Given the description of an element on the screen output the (x, y) to click on. 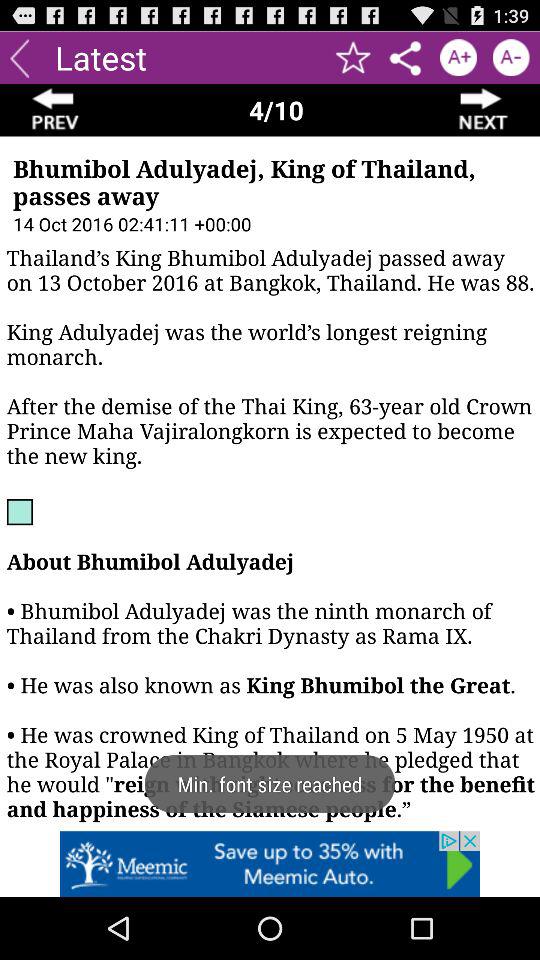
font size adjustable option (510, 57)
